Given the description of an element on the screen output the (x, y) to click on. 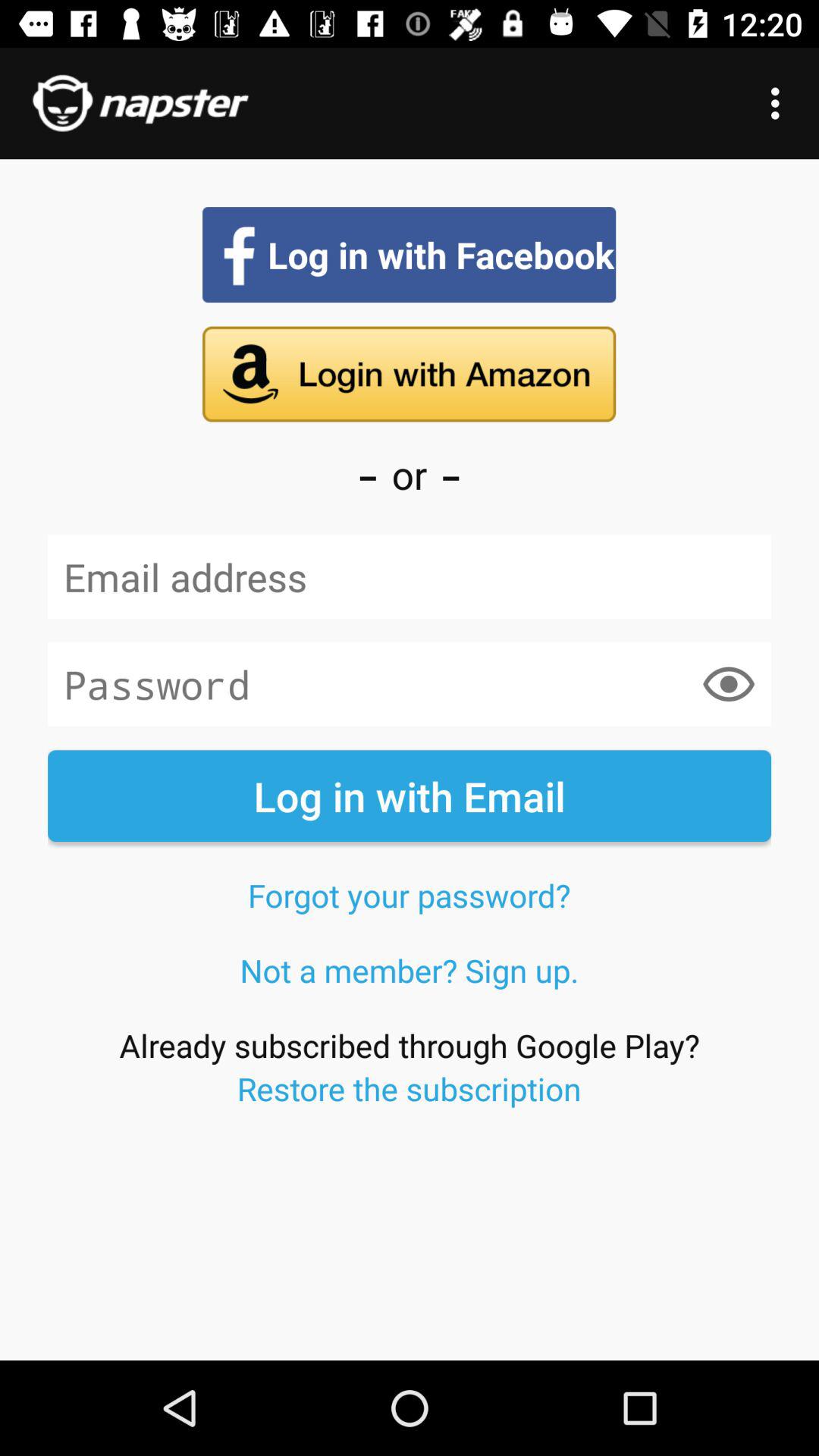
select the item on the right (728, 684)
